Given the description of an element on the screen output the (x, y) to click on. 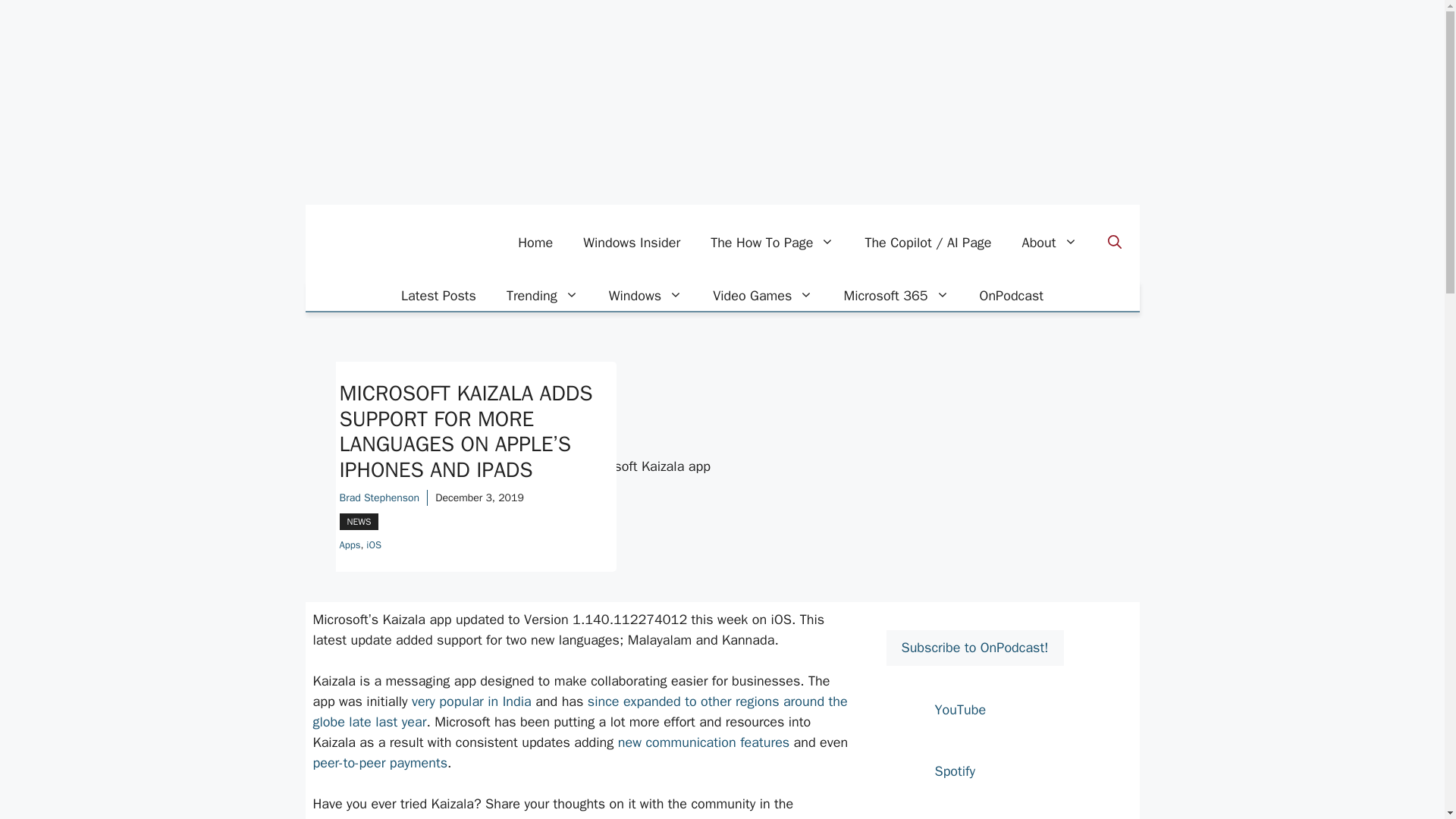
Home (534, 242)
The How To Page (771, 242)
Latest Posts (438, 295)
About (1050, 242)
Trending (543, 295)
Windows (645, 295)
Windows Insider (631, 242)
Video Games (762, 295)
